Given the description of an element on the screen output the (x, y) to click on. 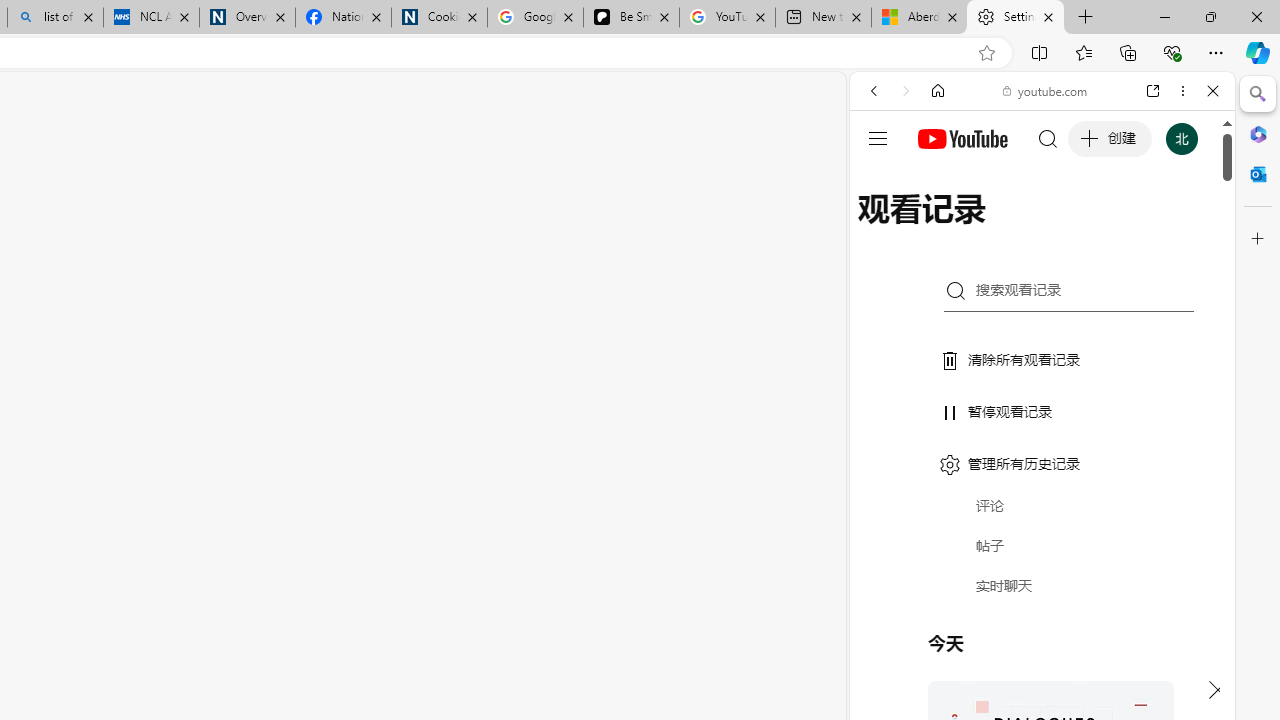
Search videos from youtube.com (1005, 657)
Aberdeen, Hong Kong SAR hourly forecast | Microsoft Weather (918, 17)
Google (1042, 494)
Close Outlook pane (1258, 174)
Music (1042, 543)
Search Filter, IMAGES (939, 228)
Web scope (882, 180)
Search Filter, VIDEOS (1006, 228)
VIDEOS (1006, 228)
